Given the description of an element on the screen output the (x, y) to click on. 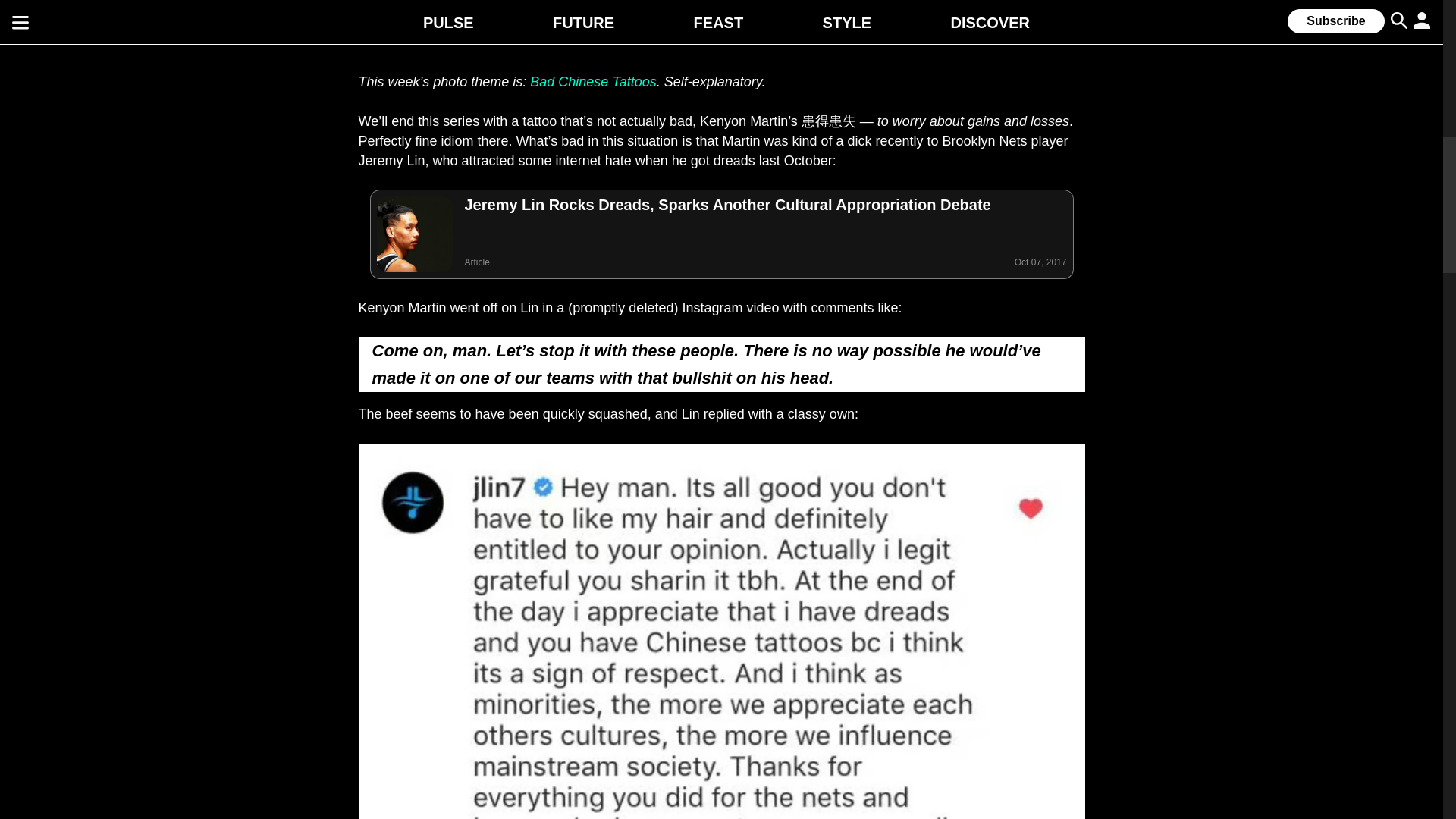
RADII Staff (479, 2)
Bad Chinese Tattoos (592, 81)
